Given the description of an element on the screen output the (x, y) to click on. 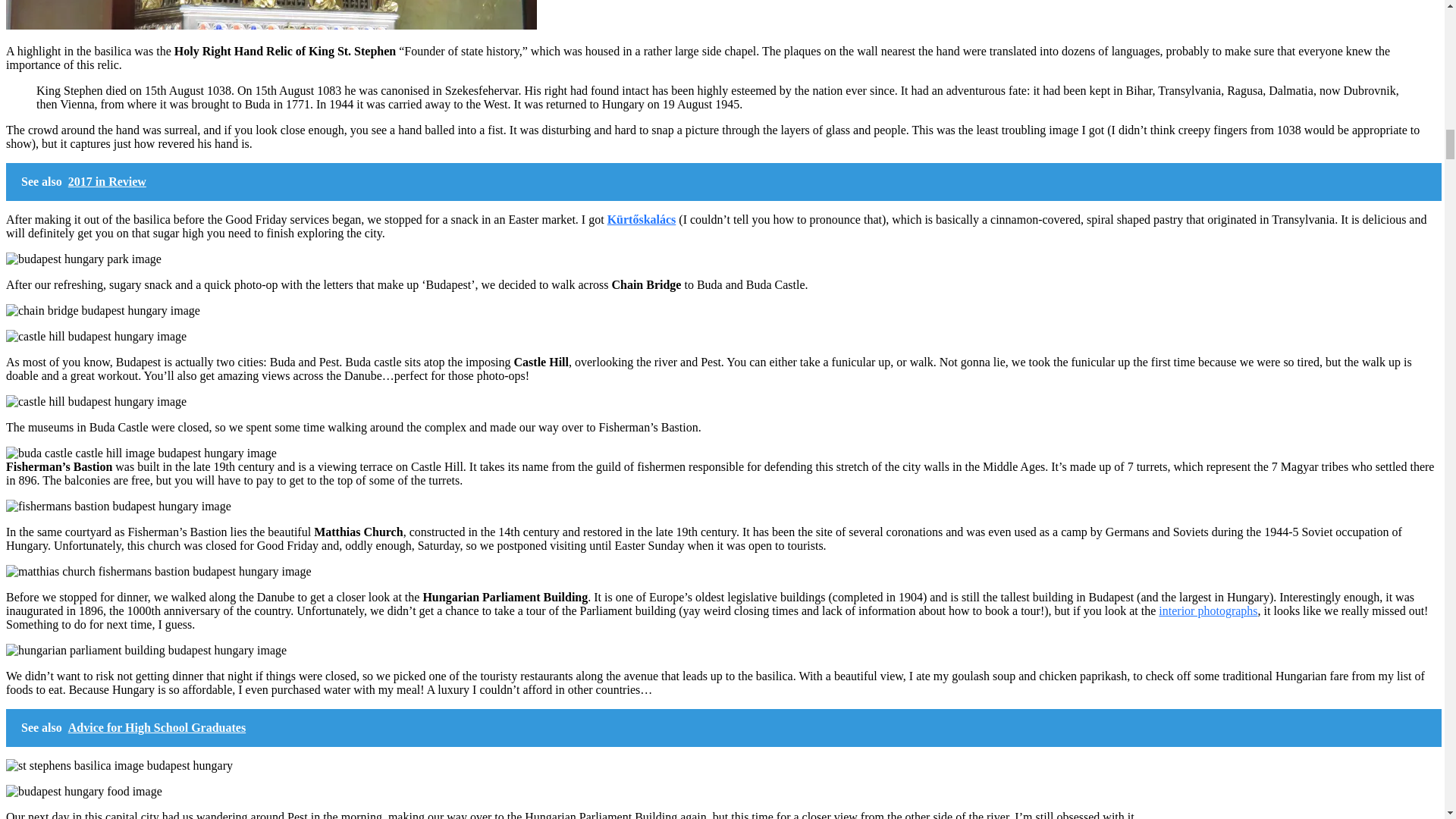
interior photographs (1207, 610)
